Given the description of an element on the screen output the (x, y) to click on. 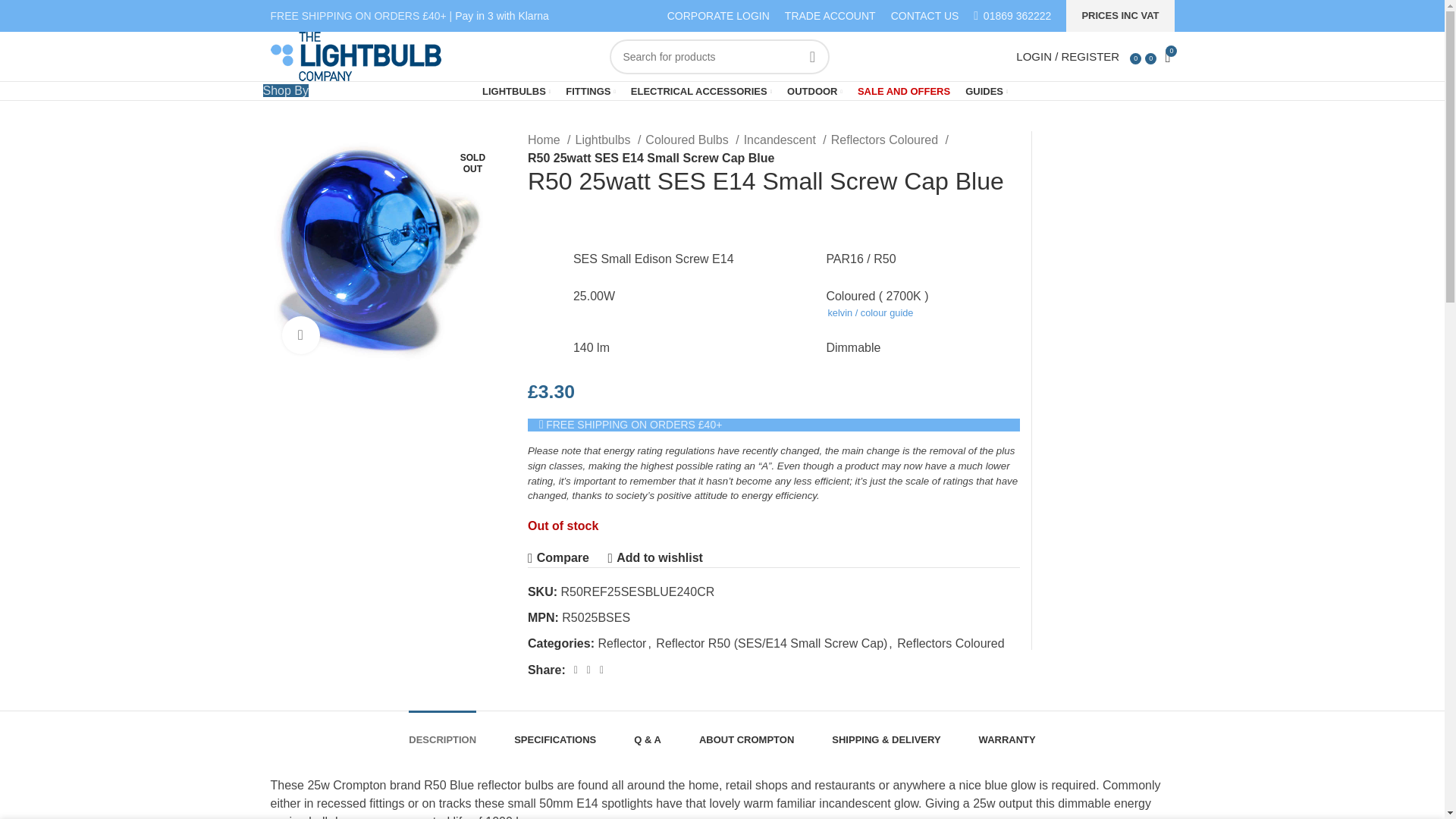
Pay in 3 with Klarna (501, 15)
01869 362222 (1017, 15)
TRADE ACCOUNT (830, 15)
PRICES INC VAT (1119, 15)
PRICES INC VAT (1119, 15)
SEARCH (811, 56)
CORPORATE LOGIN (718, 15)
CONTACT US (925, 15)
Search for products (719, 56)
My account (1064, 55)
